Given the description of an element on the screen output the (x, y) to click on. 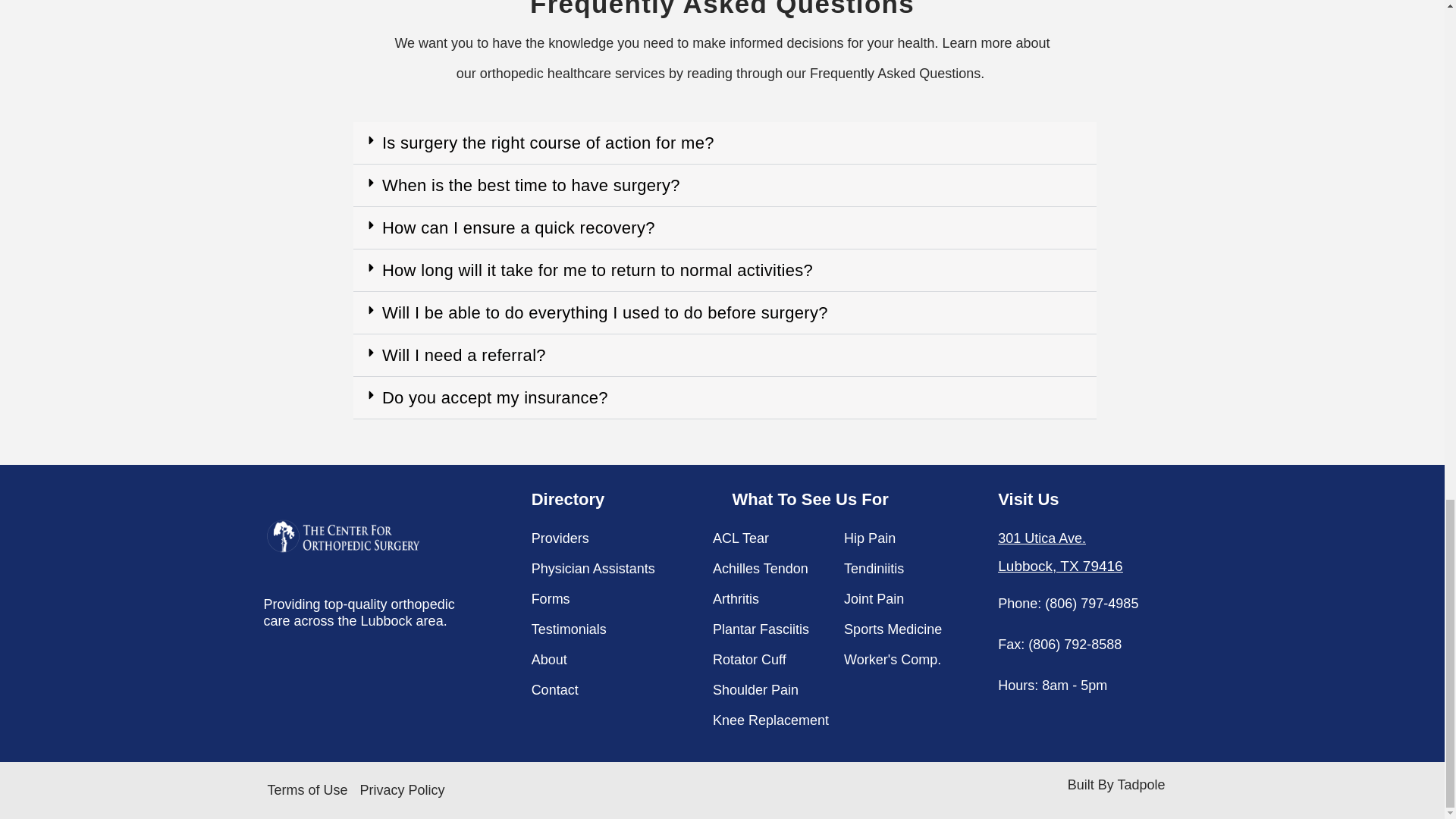
How can I ensure a quick recovery? (518, 227)
Arthritis (770, 598)
Providers (614, 538)
Contact (614, 689)
Knee Replacement (770, 720)
Plantar Fasciitis (770, 629)
Physician Assistants (614, 568)
Is surgery the right course of action for me? (547, 142)
Achilles Tendon (770, 568)
Testimonials (614, 629)
Do you accept my insurance? (494, 397)
Rotator Cuff (770, 659)
Will I be able to do everything I used to do before surgery? (604, 312)
Will I need a referral? (463, 354)
How long will it take for me to return to normal activities? (596, 270)
